Given the description of an element on the screen output the (x, y) to click on. 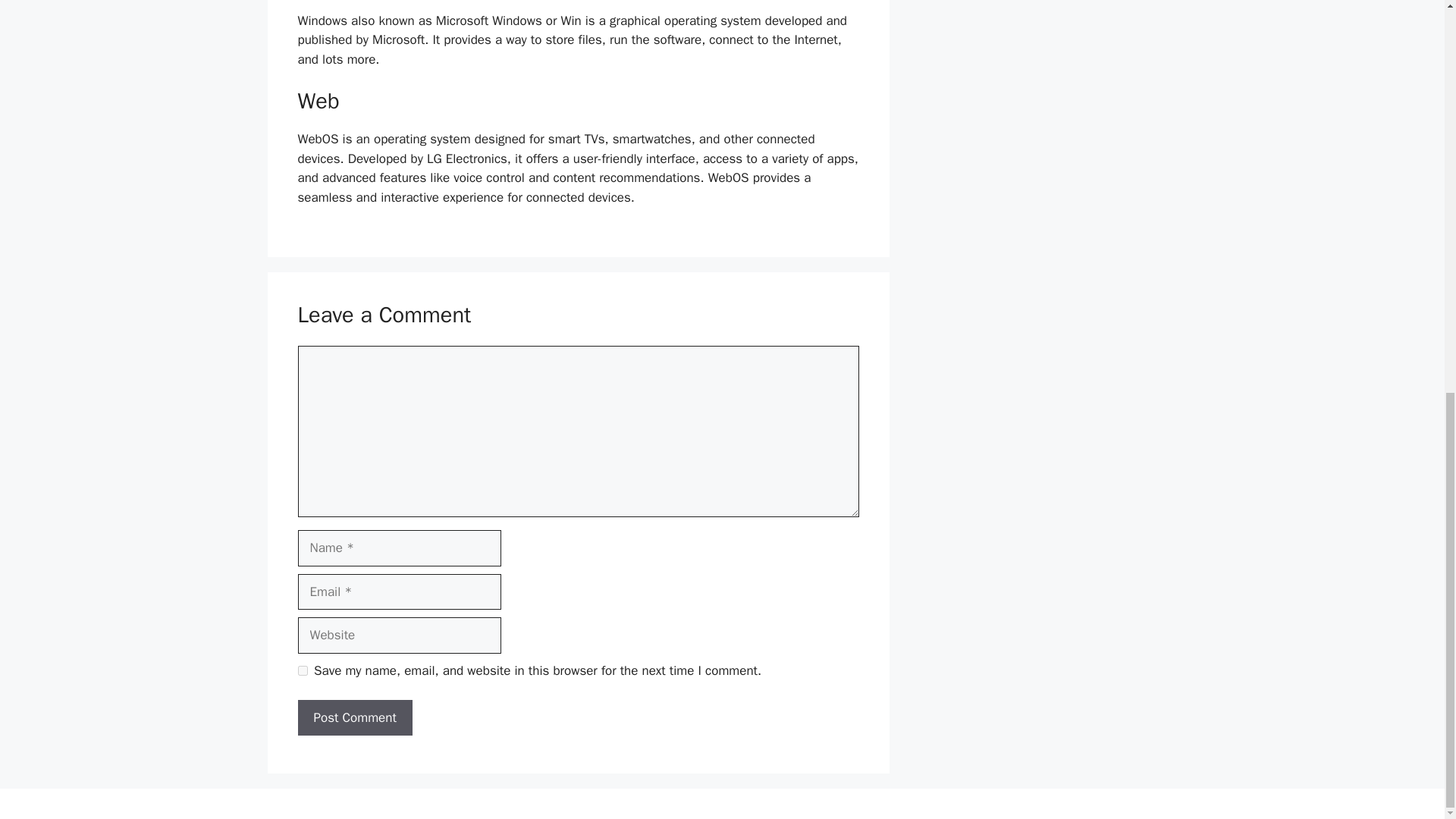
Post Comment (354, 718)
Post Comment (354, 718)
yes (302, 670)
